Given the description of an element on the screen output the (x, y) to click on. 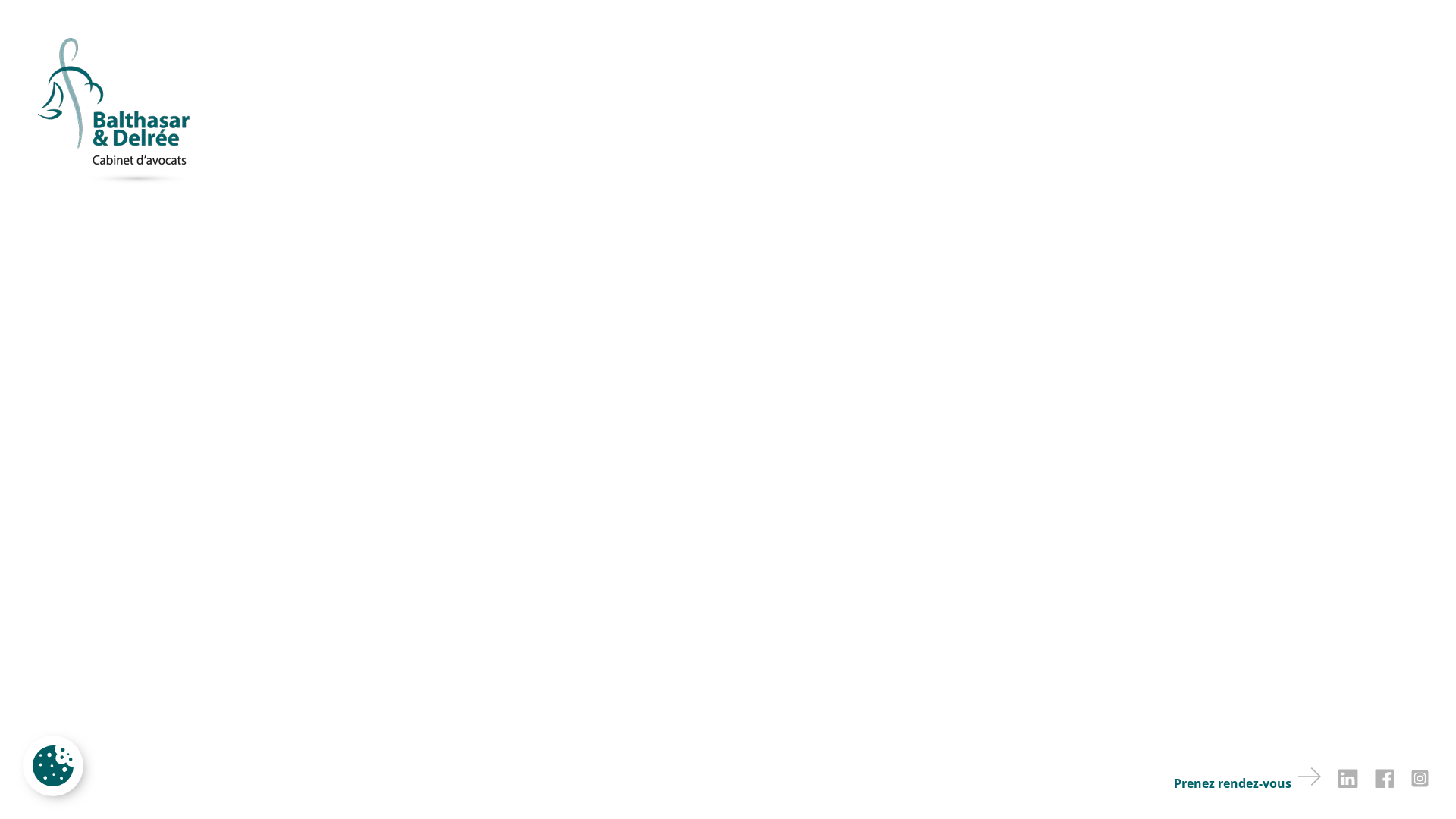
Facebook Element type: text (1377, 780)
Instagram Element type: text (1412, 780)
Linkedin Element type: text (1341, 780)
Prenez rendez-vous Element type: text (1240, 778)
